Given the description of an element on the screen output the (x, y) to click on. 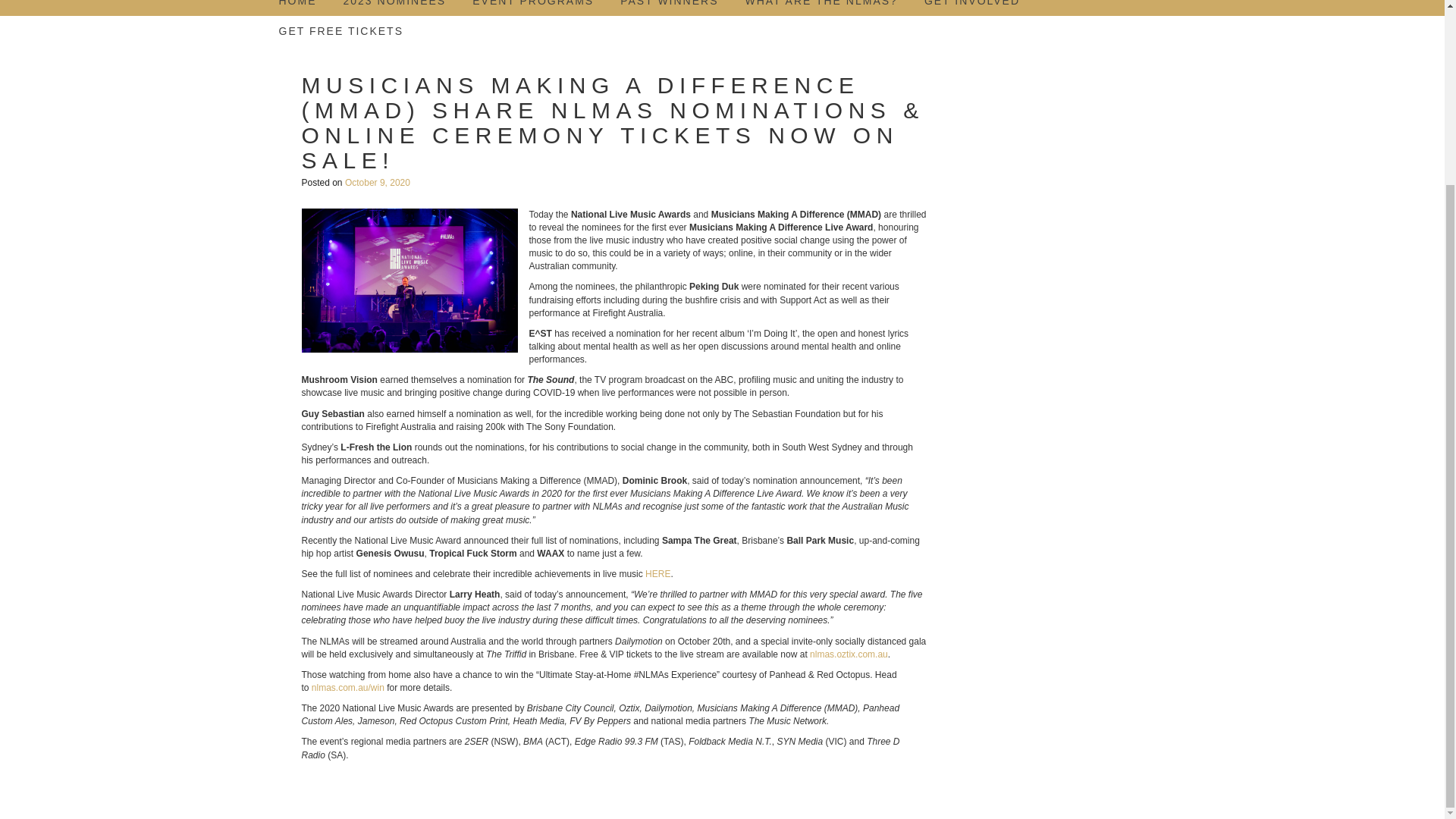
HOME (298, 7)
GET INVOLVED (972, 7)
GET FREE TICKETS (341, 30)
EVENT PROGRAMS (532, 7)
HERE (657, 573)
WHAT ARE THE NLMAS? (820, 7)
nlmas.oztix.com.au (848, 654)
2023 NOMINEES (393, 7)
October 9, 2020 (377, 182)
PAST WINNERS (668, 7)
